Given the description of an element on the screen output the (x, y) to click on. 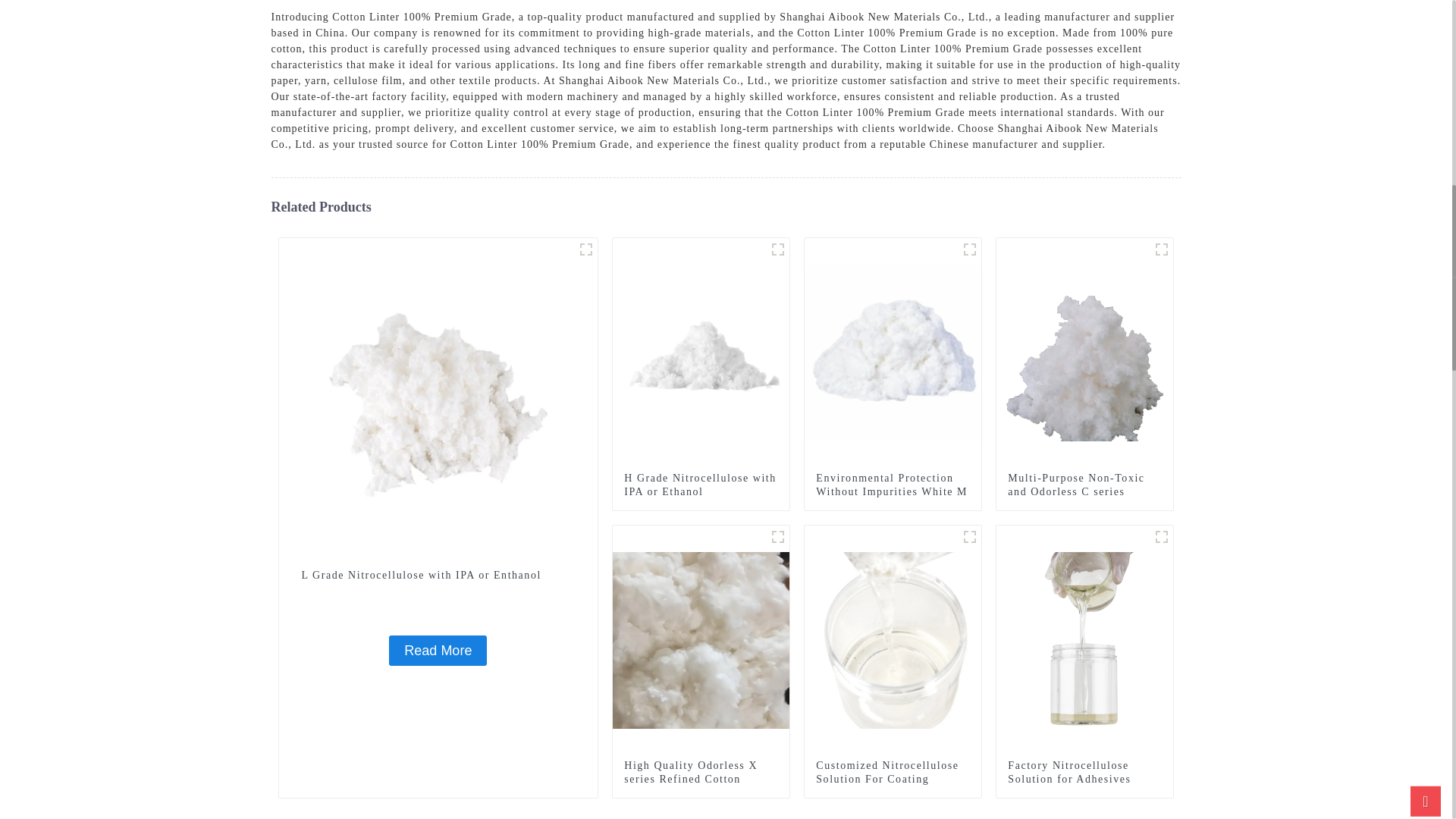
Multi-Purpose Non-Toxic and Odorless C series Refined Cotton (1084, 491)
Multi-Purpose Non-Toxic and Odorless C series Refined Cotton (1084, 491)
DSC04845 (778, 249)
DSC04864 (585, 249)
1 (778, 536)
1 (969, 536)
H Grade Nitrocellulose with IPA or Ethanol (700, 484)
L Grade Nitrocellulose with IPA or Enthanol  (438, 575)
